Given the description of an element on the screen output the (x, y) to click on. 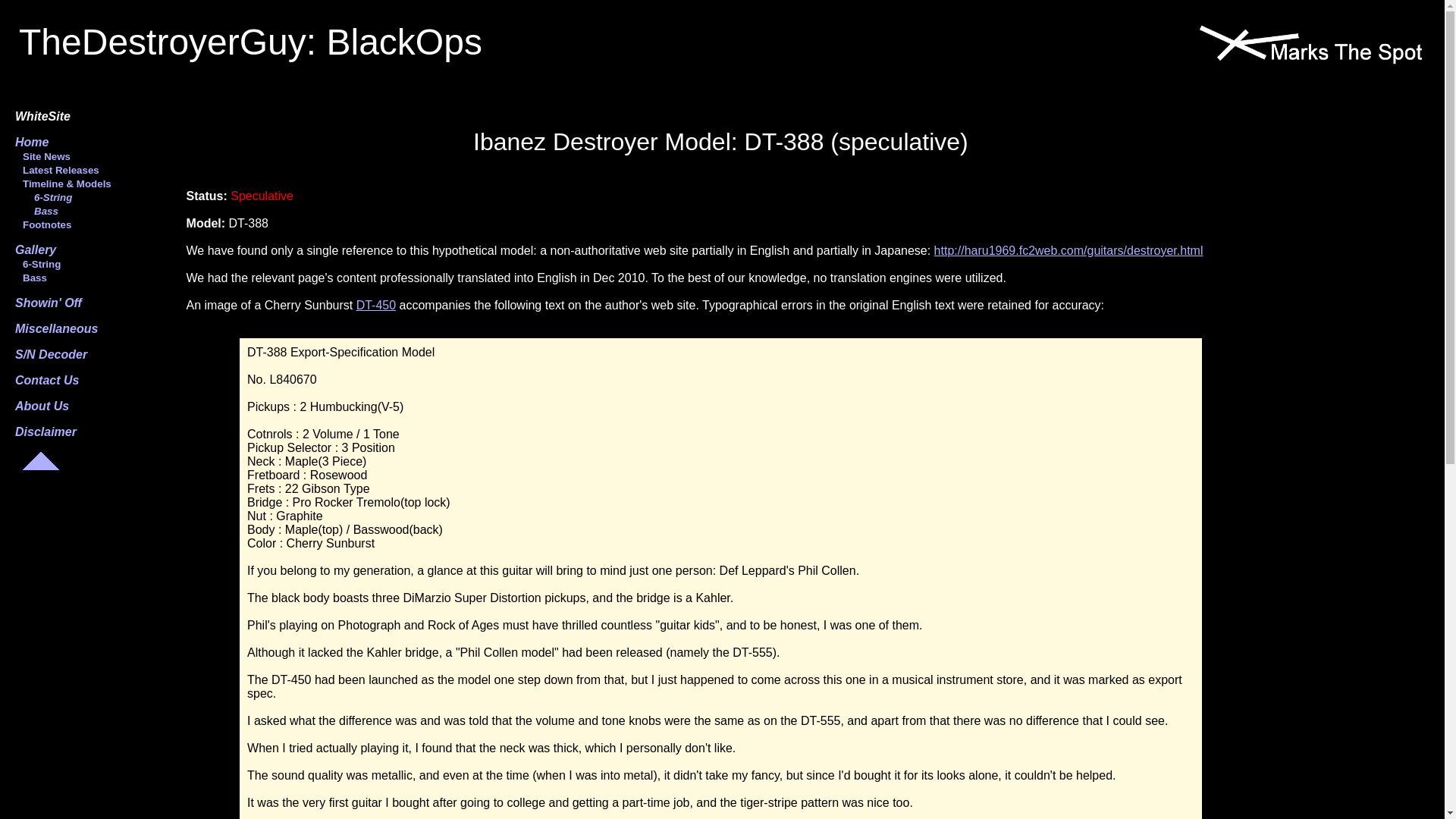
Disclaimer (45, 431)
Site News (41, 156)
Miscellaneous (55, 328)
WhiteSite (41, 115)
Gallery (35, 249)
About Us (41, 405)
Contact Us (46, 379)
Latest Releases (56, 170)
Home (31, 141)
Bass (36, 211)
Bass (30, 277)
6-String (37, 264)
6-String (42, 197)
Showin' Off (47, 302)
DT-450 (376, 305)
